Given the description of an element on the screen output the (x, y) to click on. 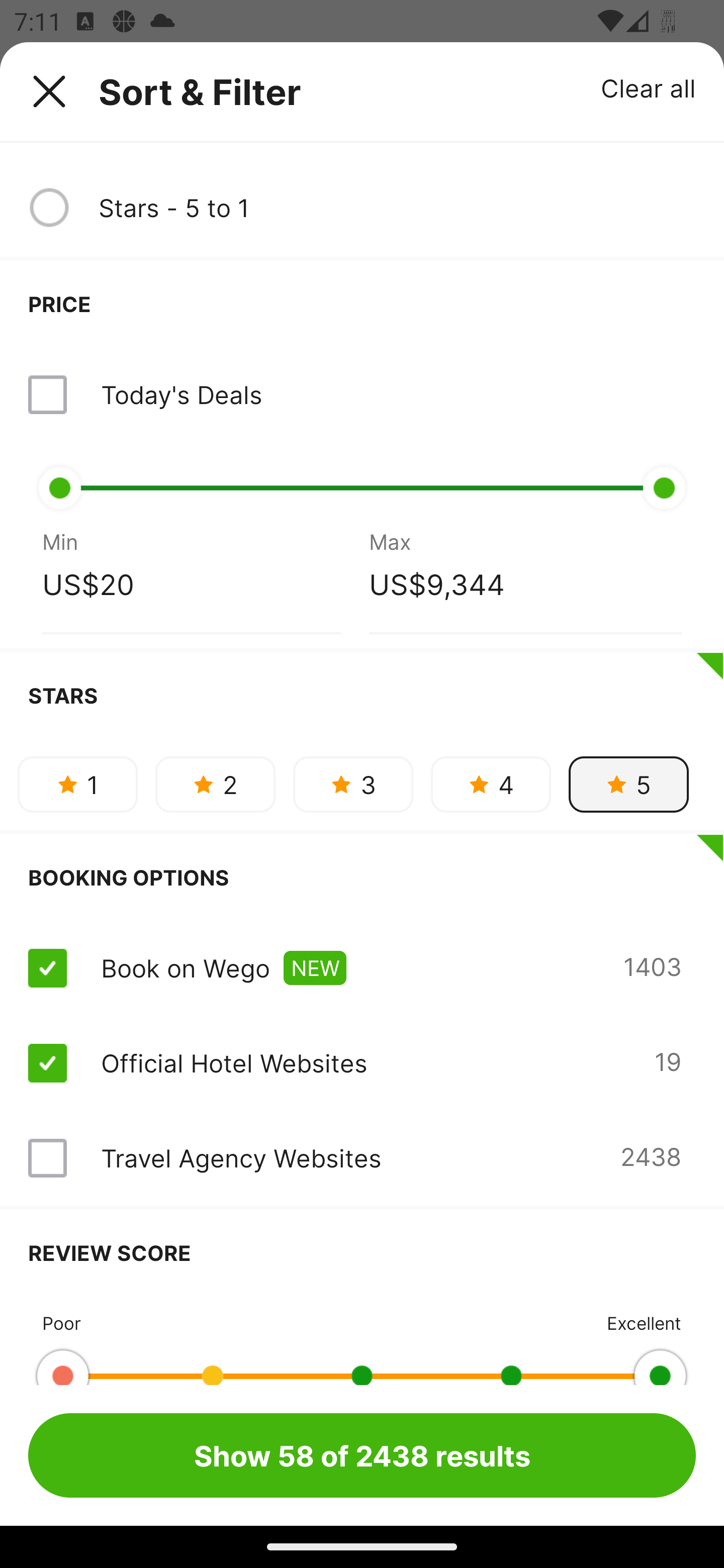
Clear all (648, 87)
Stars - 5 to 1 (396, 207)
Today's Deals (362, 394)
Today's Deals (181, 394)
1 (77, 783)
2 (214, 783)
3 (352, 783)
4 (491, 783)
5 (627, 783)
Book on Wego NEW 1403 (362, 968)
Book on Wego (184, 968)
Official Hotel Websites 19 (362, 1063)
Official Hotel Websites (233, 1062)
Travel Agency Websites 2438 (362, 1157)
Travel Agency Websites (240, 1157)
Poor Excellent (362, 1340)
Show 58 of 2438 results (361, 1454)
